Given the description of an element on the screen output the (x, y) to click on. 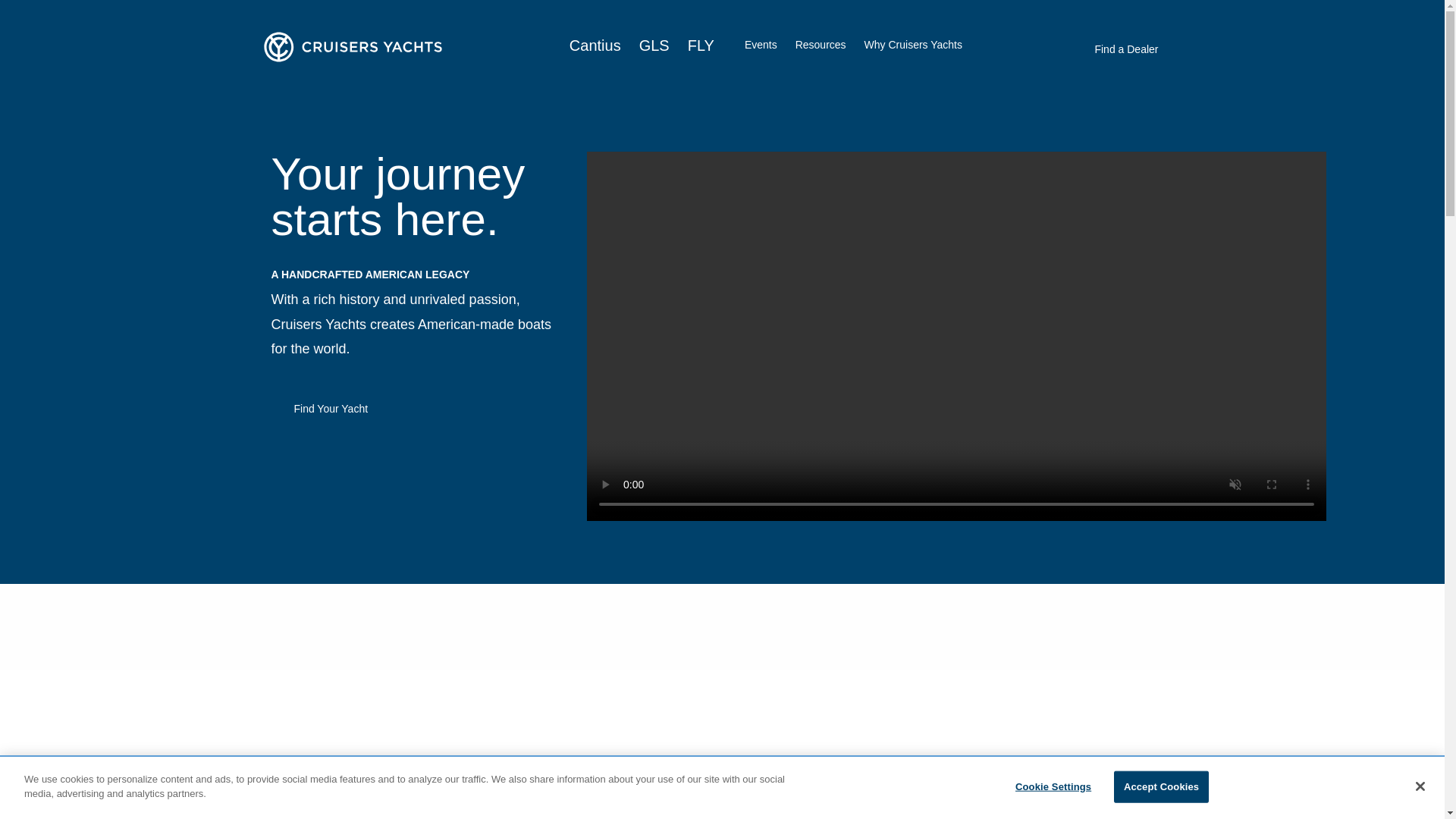
FLY (700, 45)
View the GLS Series (628, 818)
View the Cantius Series (327, 818)
Events (760, 44)
Find Your Yacht (330, 408)
Cantius (595, 45)
Find a Dealer (1125, 48)
View the FLY Series (935, 818)
GLS (654, 45)
Resources (819, 45)
Why Cruisers Yachts (913, 44)
